Given the description of an element on the screen output the (x, y) to click on. 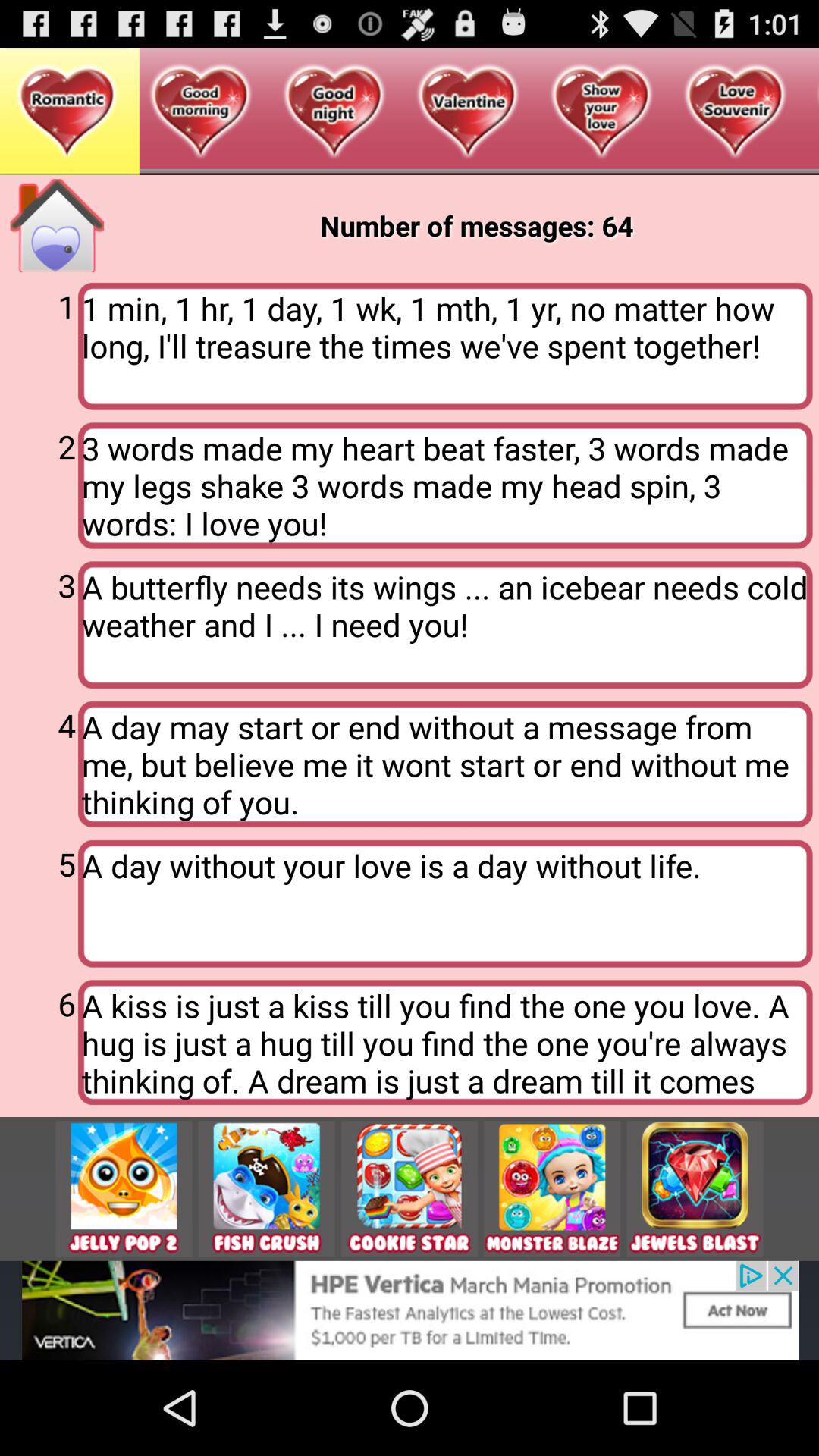
ask advertisement selection (123, 1188)
